Given the description of an element on the screen output the (x, y) to click on. 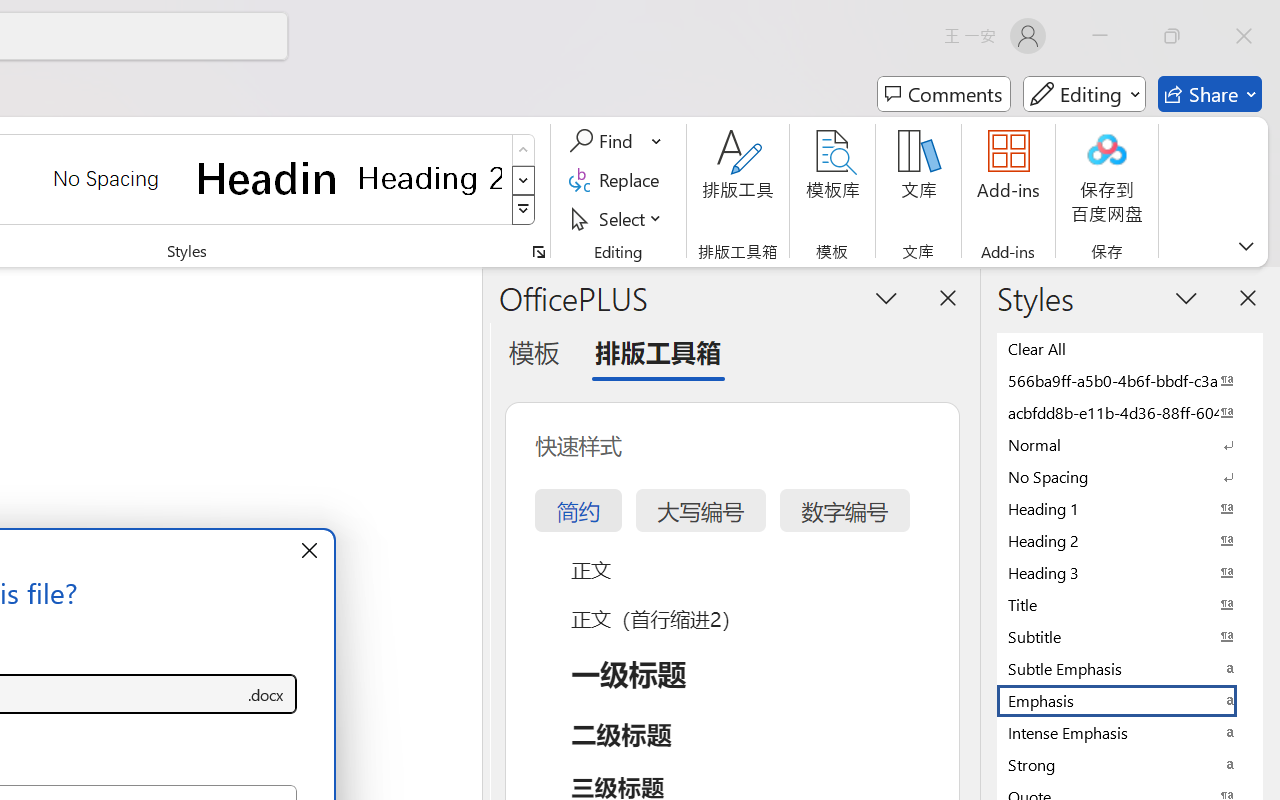
Comments (943, 94)
Subtle Emphasis (1130, 668)
Close (1244, 36)
Ribbon Display Options (1246, 245)
No Spacing (1130, 476)
Strong (1130, 764)
Row up (523, 150)
acbfdd8b-e11b-4d36-88ff-6049b138f862 (1130, 412)
